Given the description of an element on the screen output the (x, y) to click on. 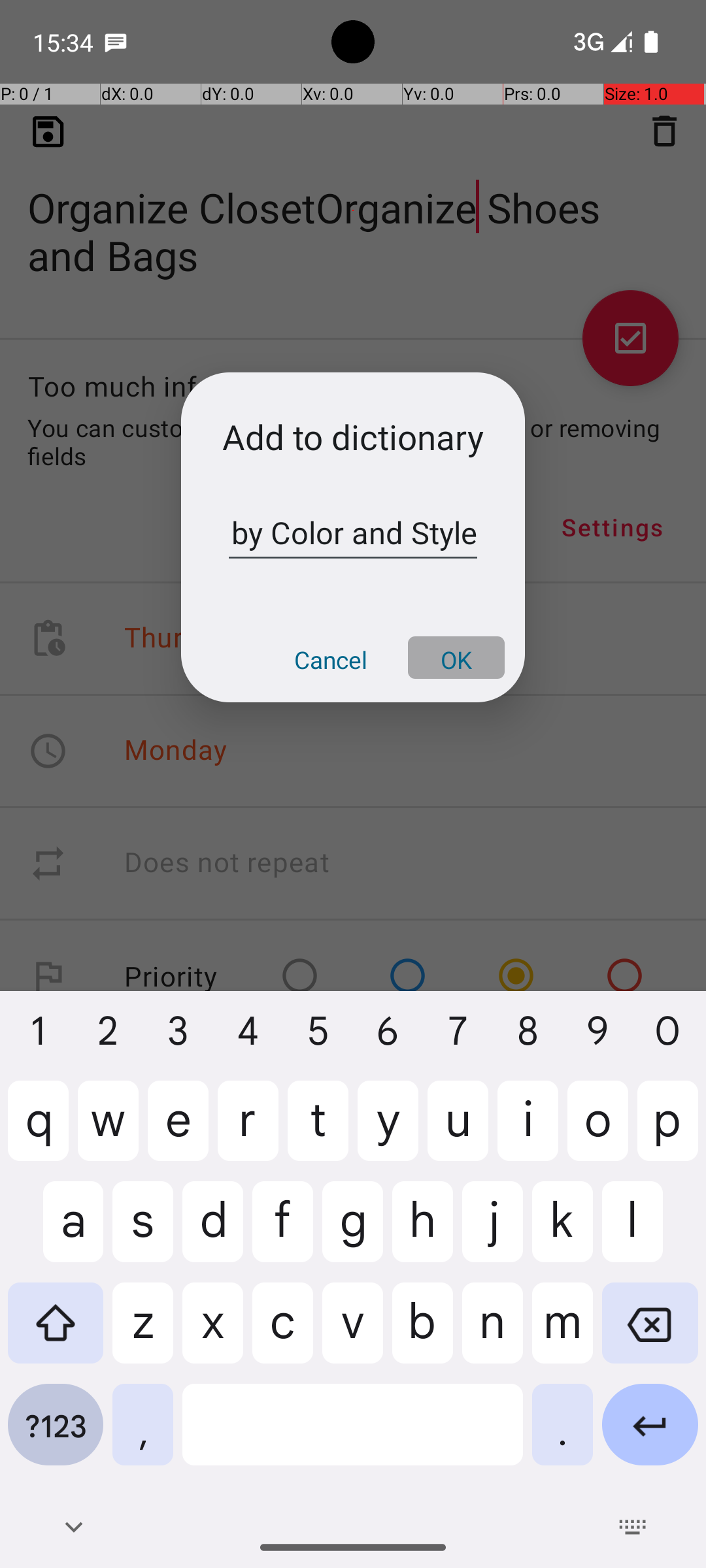
Add to dictionary Element type: android.widget.TextView (352, 436)
ClosetOrganizeShoes by Color and Style Element type: android.widget.EditText (352, 532)
